Given the description of an element on the screen output the (x, y) to click on. 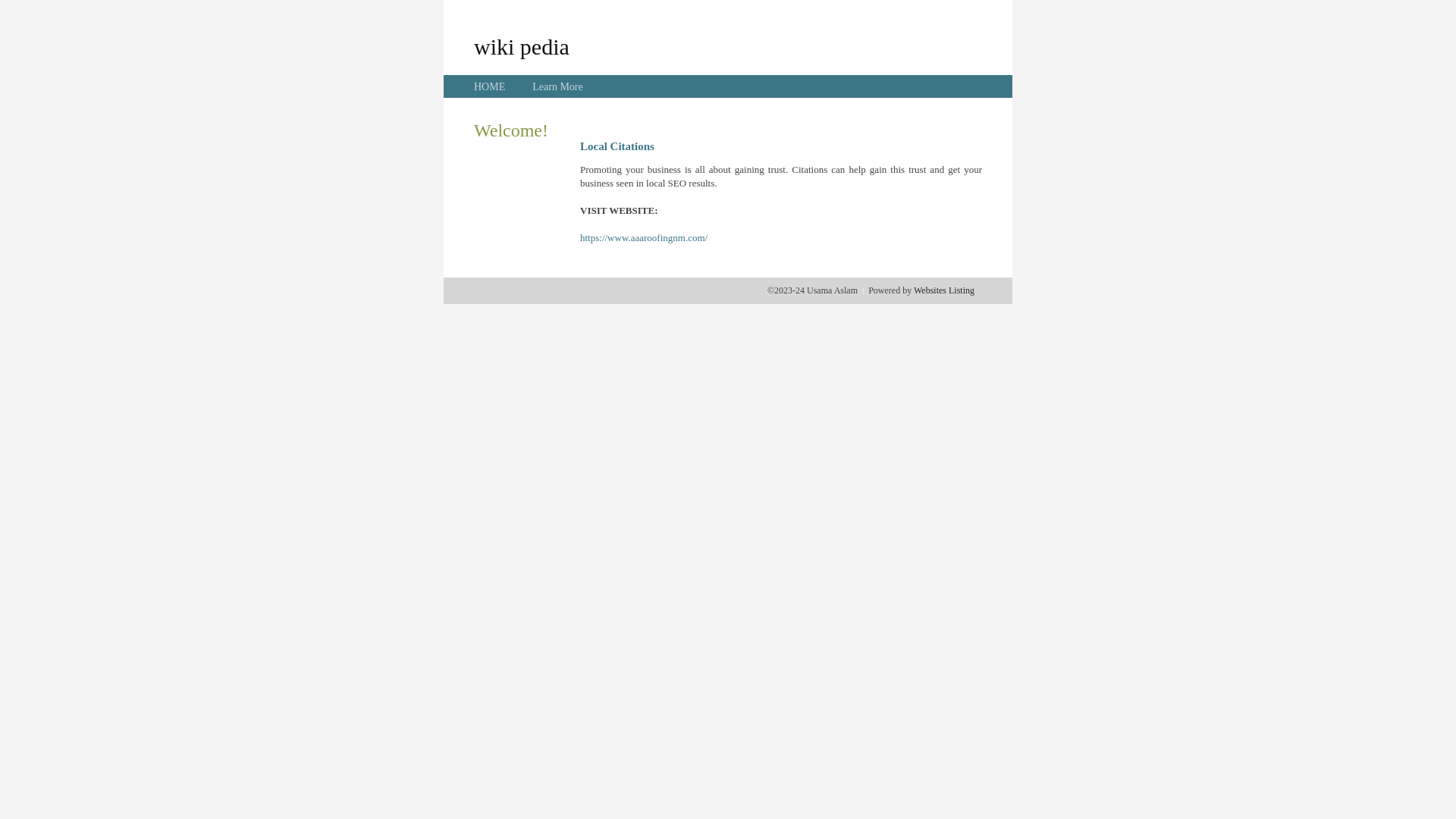
wiki pedia Element type: text (521, 46)
Websites Listing Element type: text (943, 290)
HOME Element type: text (489, 86)
https://www.aaaroofingnm.com/ Element type: text (643, 237)
Learn More Element type: text (557, 86)
